Given the description of an element on the screen output the (x, y) to click on. 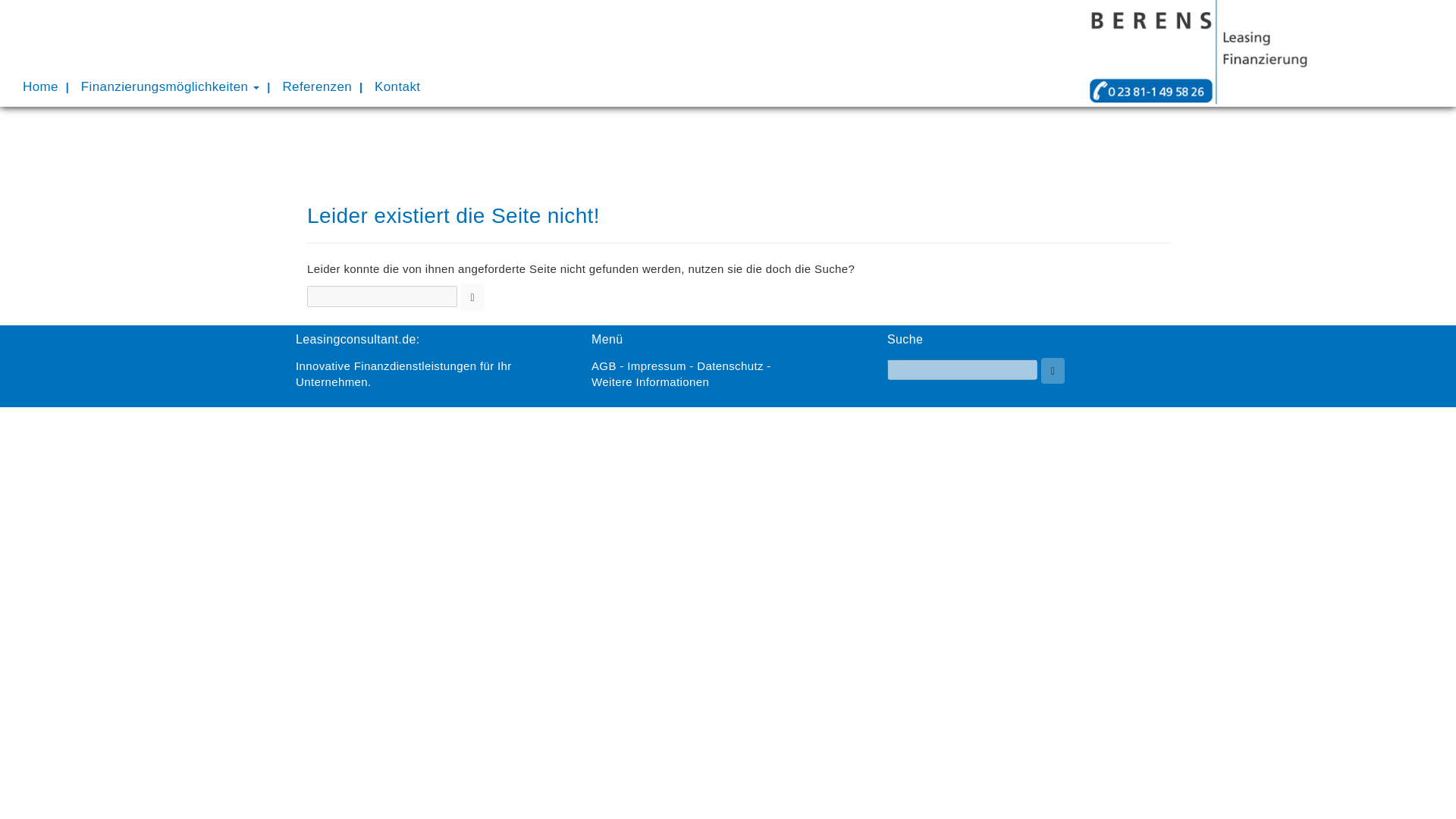
Home (40, 86)
Home (40, 86)
Referenzen (316, 86)
Referenzen (316, 86)
Kontakt (396, 86)
Kontakt (396, 86)
